Given the description of an element on the screen output the (x, y) to click on. 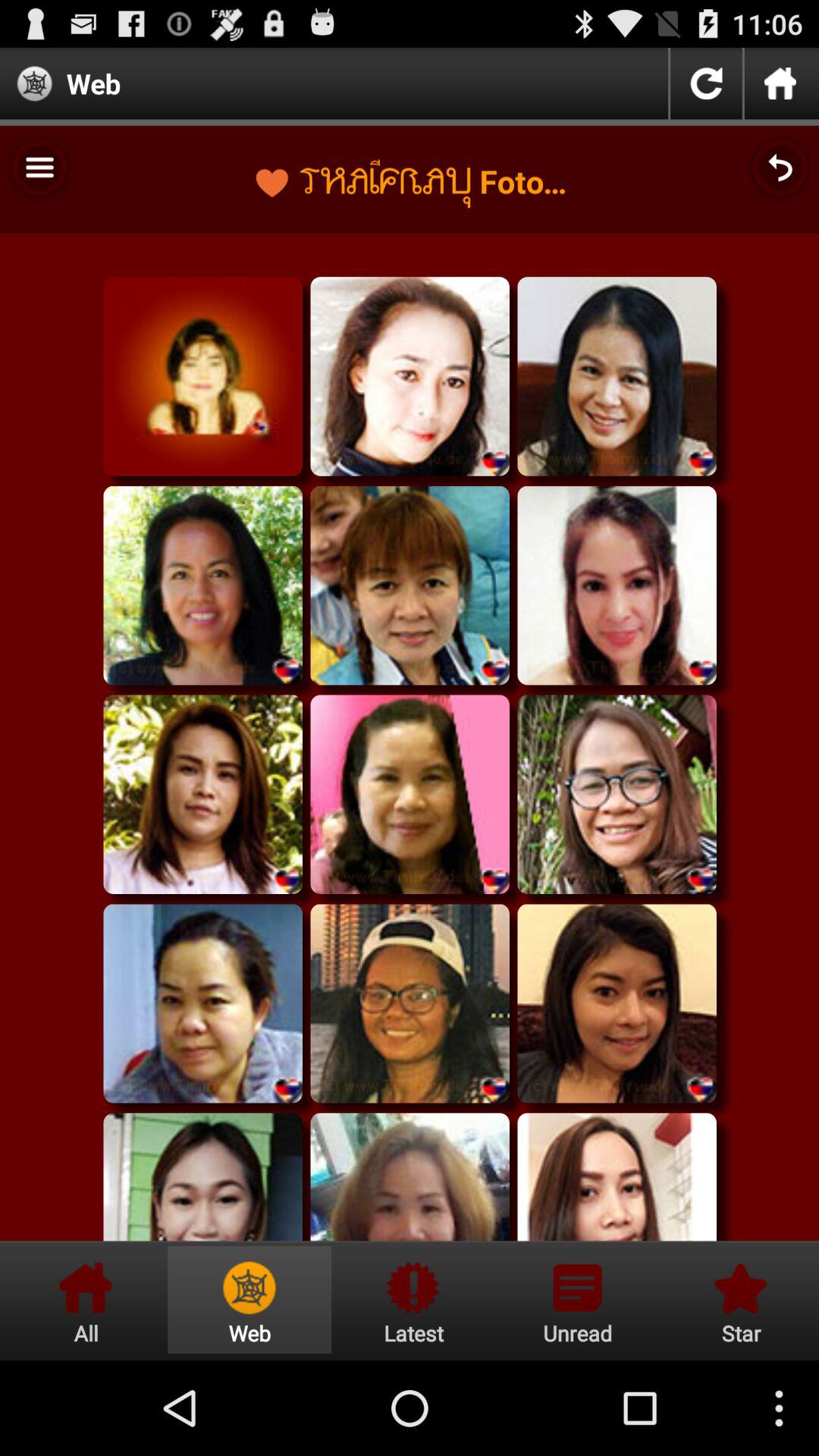
home (780, 83)
